Given the description of an element on the screen output the (x, y) to click on. 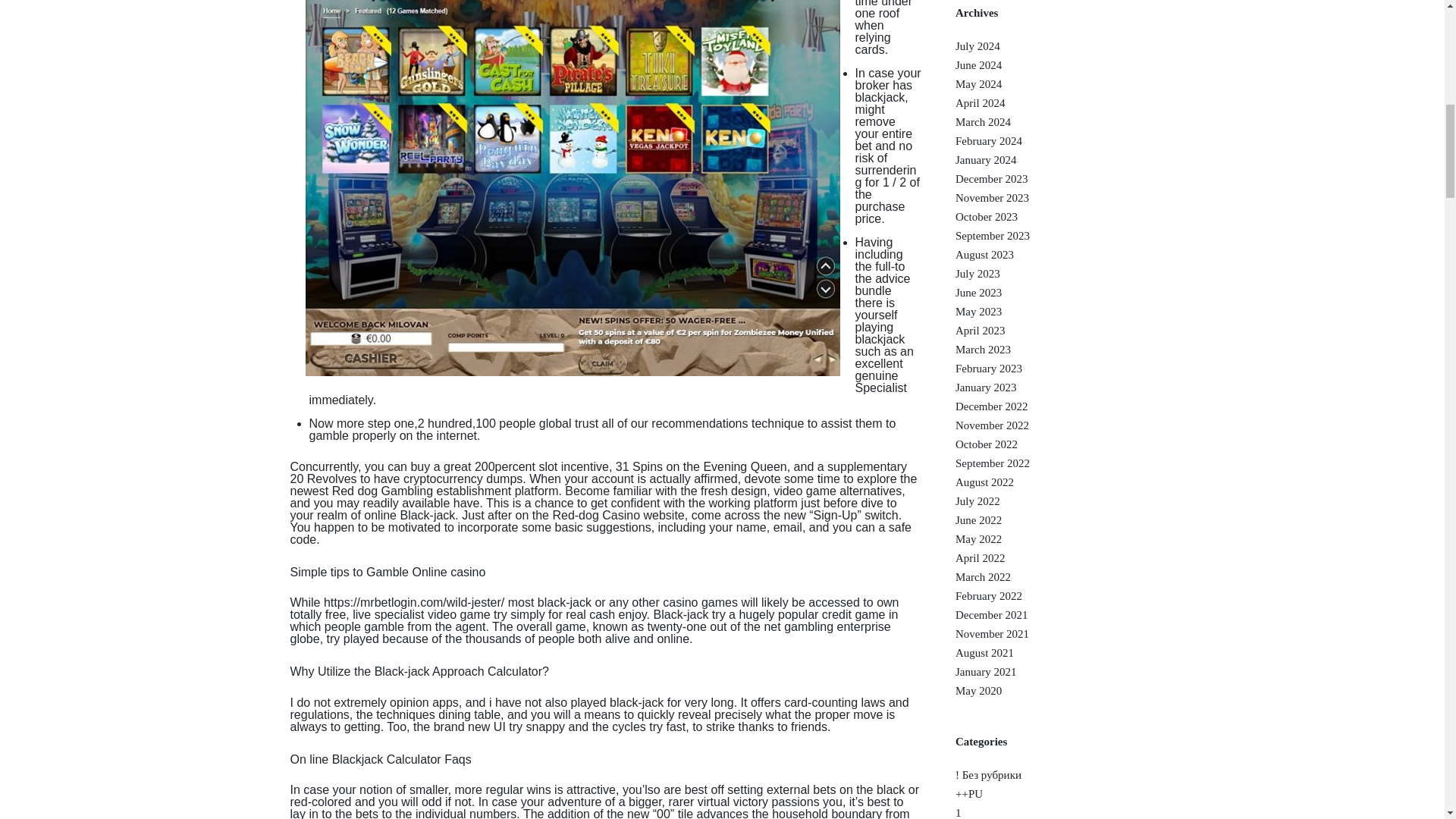
July 2024 (977, 46)
October 2023 (986, 216)
August 2023 (984, 255)
December 2023 (991, 179)
January 2024 (985, 160)
February 2024 (988, 141)
September 2023 (992, 235)
June 2024 (978, 65)
November 2023 (992, 197)
March 2024 (982, 122)
July 2023 (977, 274)
June 2023 (978, 292)
April 2024 (979, 102)
May 2024 (978, 84)
